Given the description of an element on the screen output the (x, y) to click on. 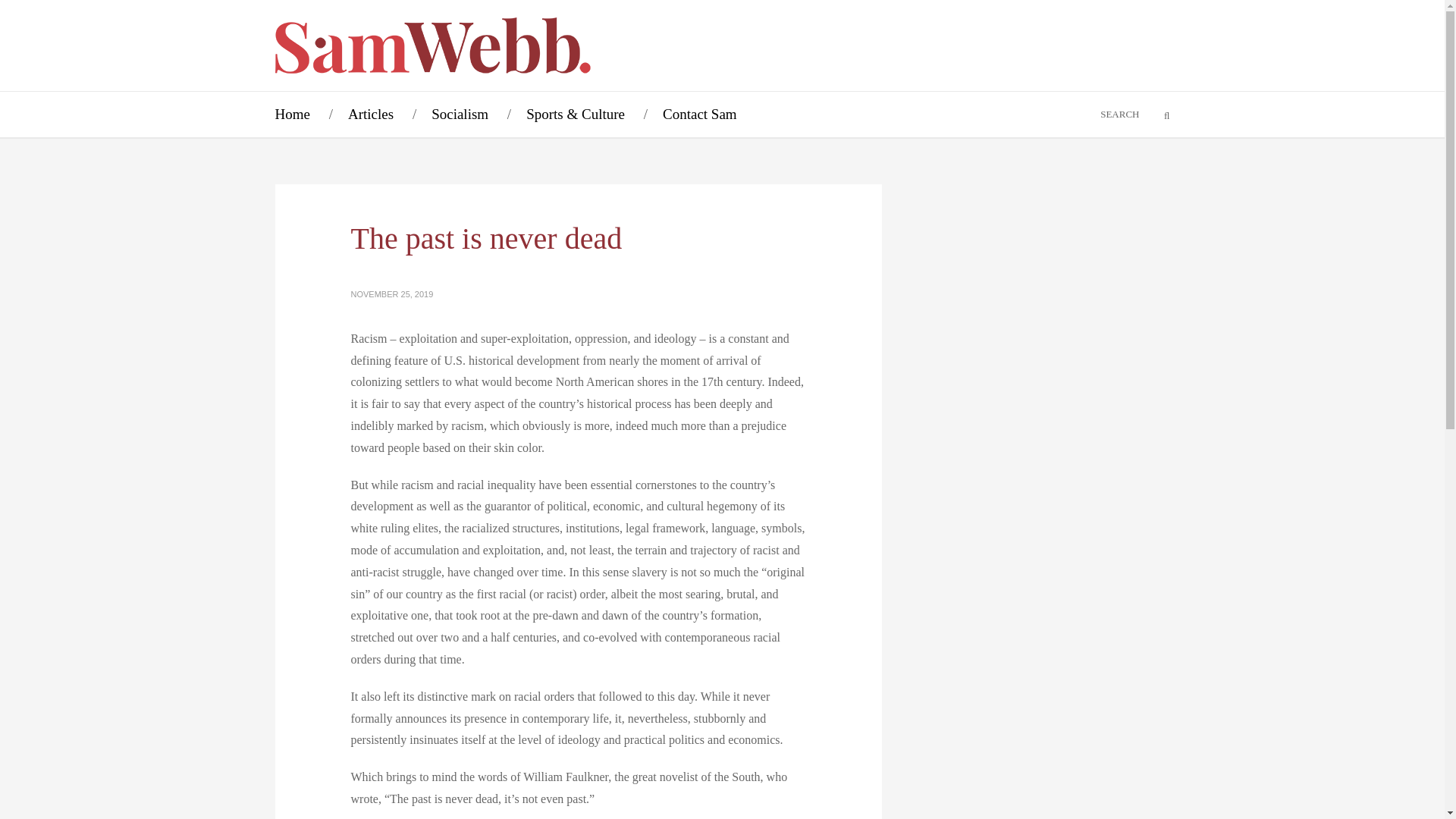
SEARCH (1096, 114)
Contact Sam (699, 114)
Socialism (458, 114)
Search (1158, 115)
Home (291, 114)
Articles (370, 114)
